Given the description of an element on the screen output the (x, y) to click on. 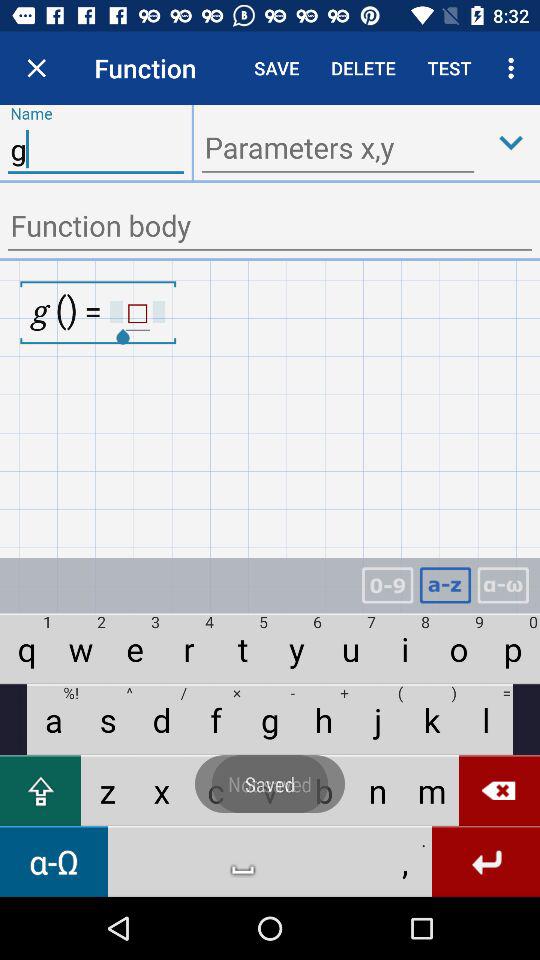
switch text font (503, 585)
